Given the description of an element on the screen output the (x, y) to click on. 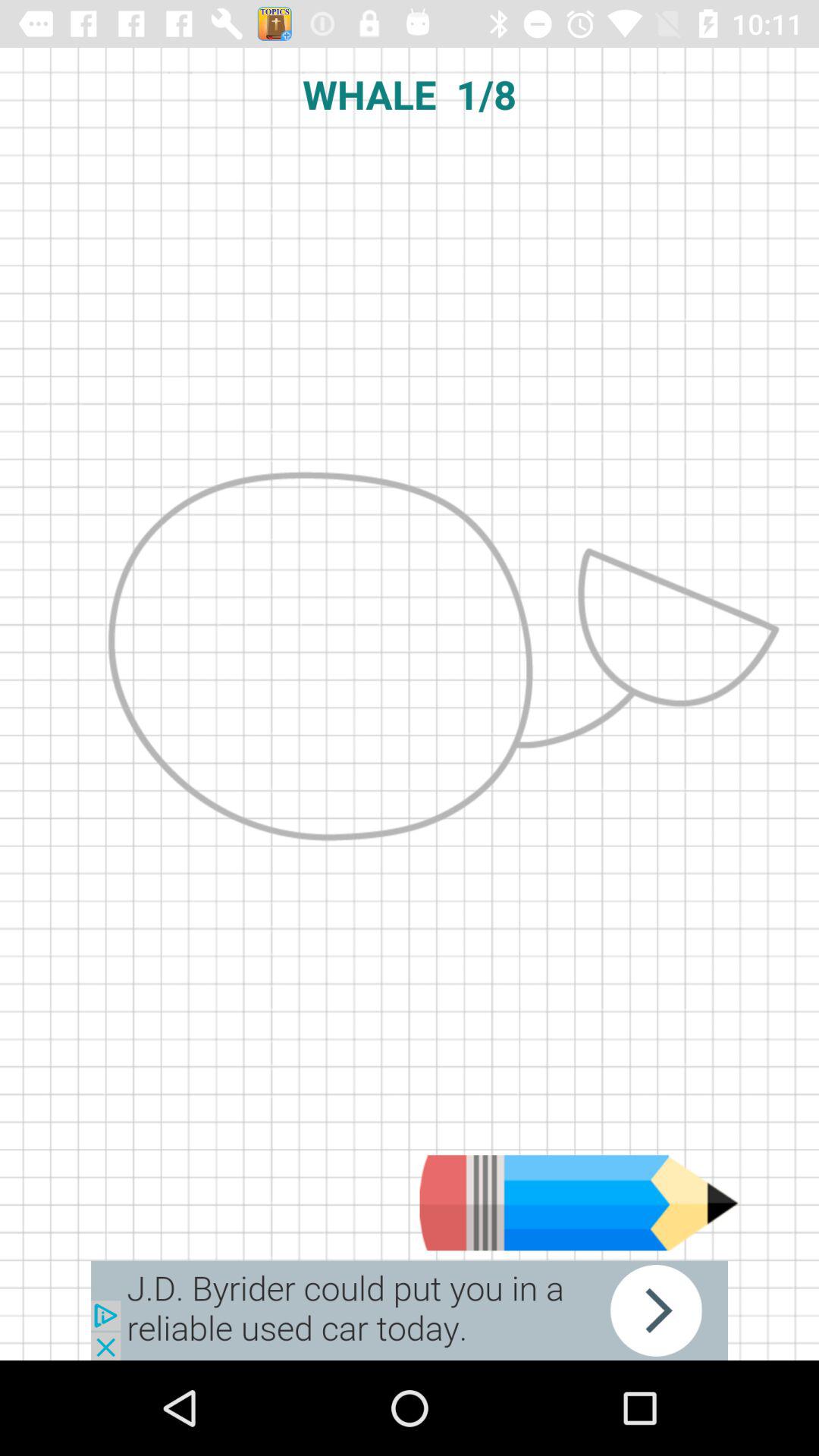
next arrow button (409, 1310)
